Given the description of an element on the screen output the (x, y) to click on. 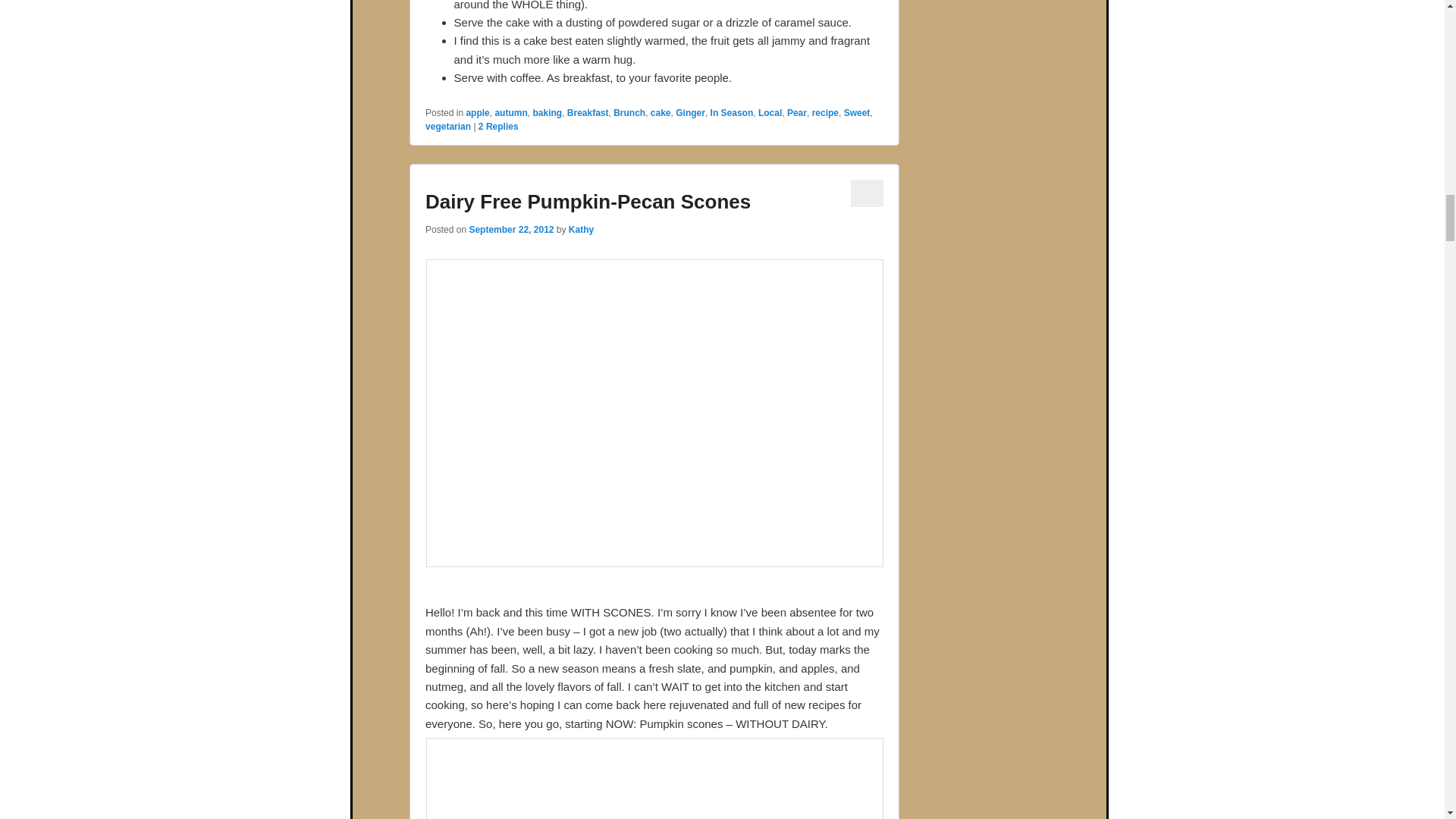
Pear (796, 112)
Brunch (628, 112)
2 Replies (498, 126)
September 22, 2012 (510, 229)
vegetarian (447, 126)
10:48 AM (510, 229)
autumn (511, 112)
Ginger (689, 112)
View all posts by Kathy (581, 229)
